Given the description of an element on the screen output the (x, y) to click on. 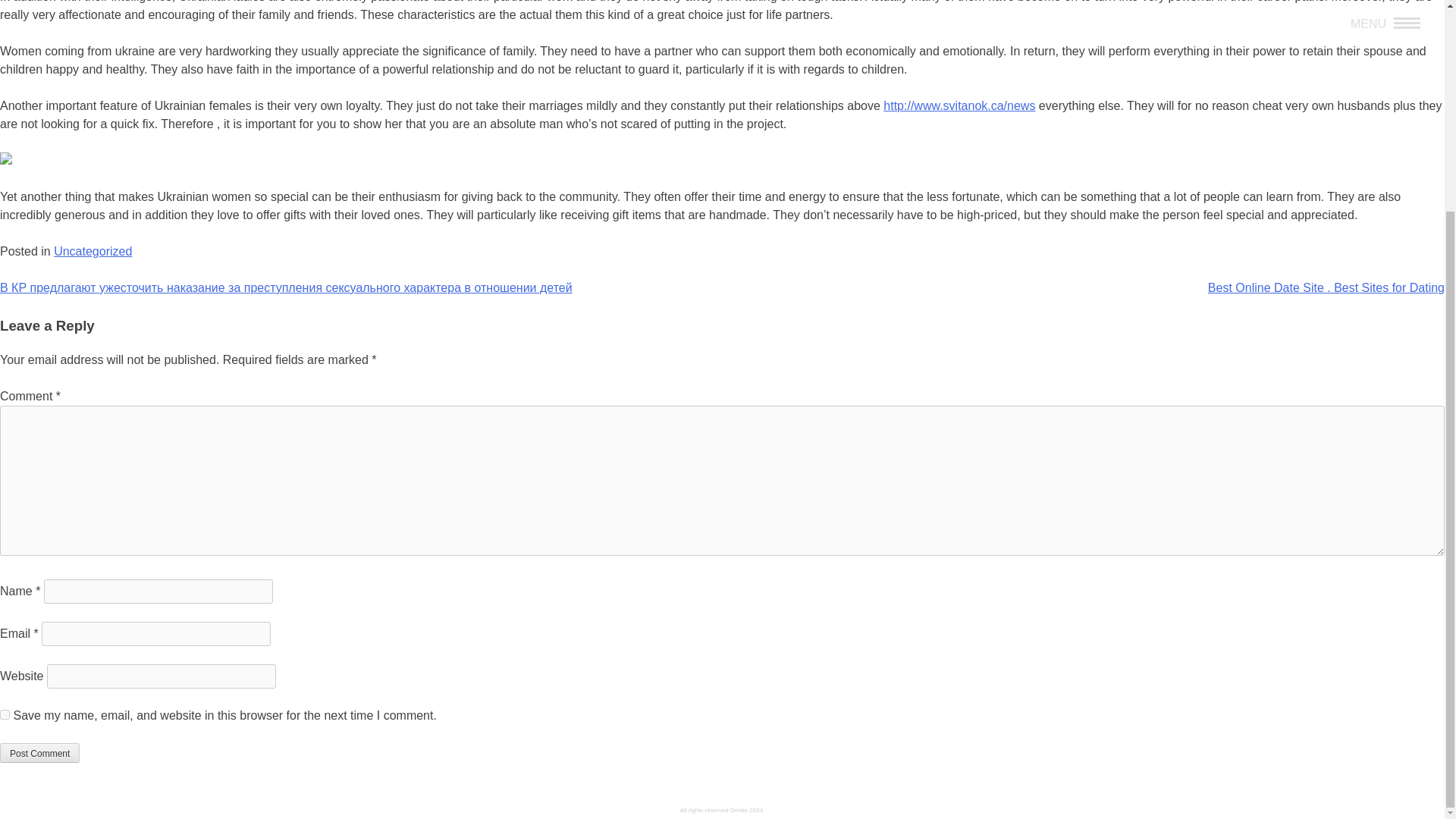
Uncategorized (92, 250)
Post Comment (40, 752)
Post Comment (40, 752)
yes (5, 714)
